Given the description of an element on the screen output the (x, y) to click on. 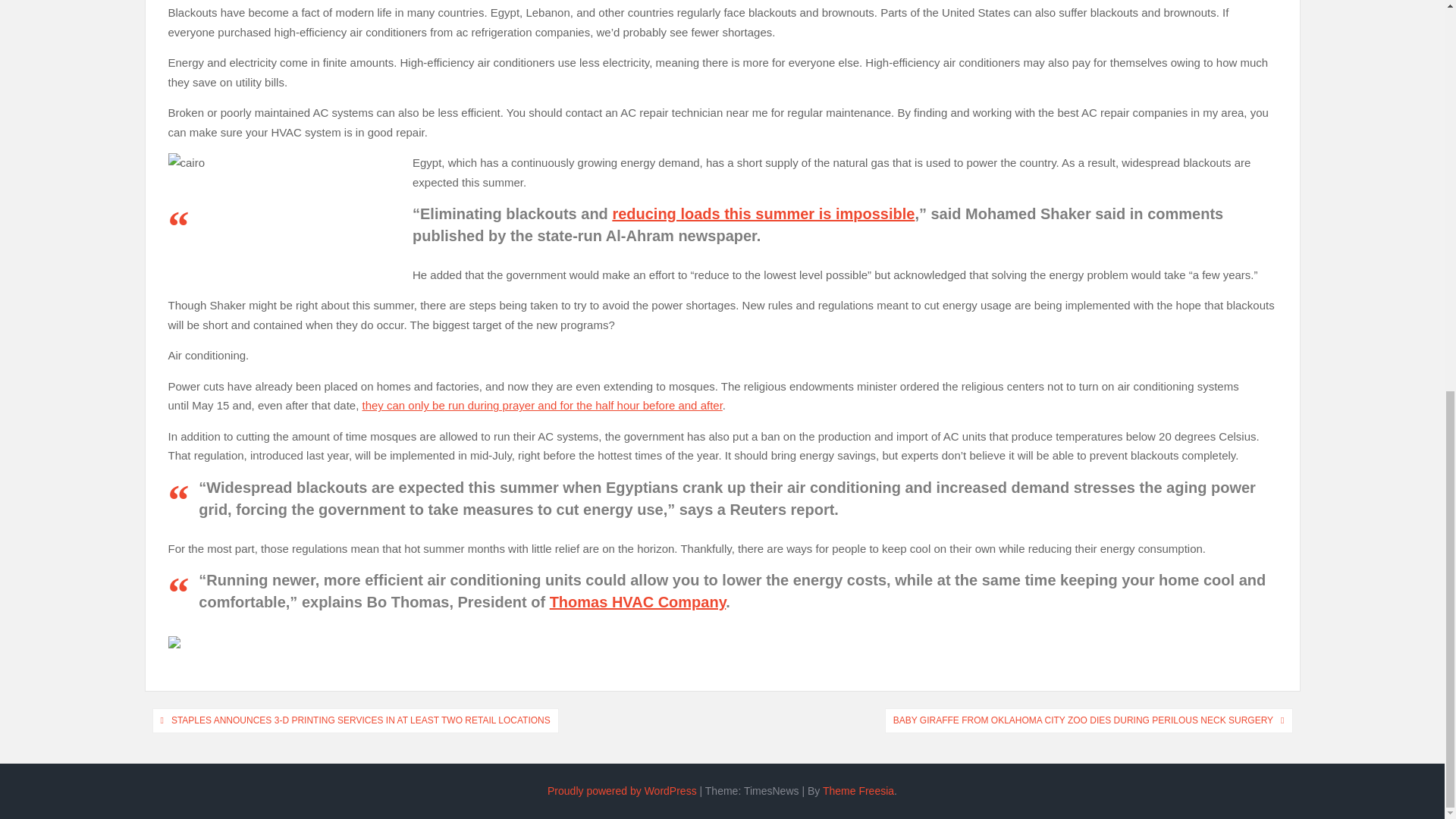
Thomas HVAC Company (638, 601)
Theme Freesia (857, 790)
reducing loads this summer is impossible (762, 213)
Proudly powered by WordPress (622, 790)
